Given the description of an element on the screen output the (x, y) to click on. 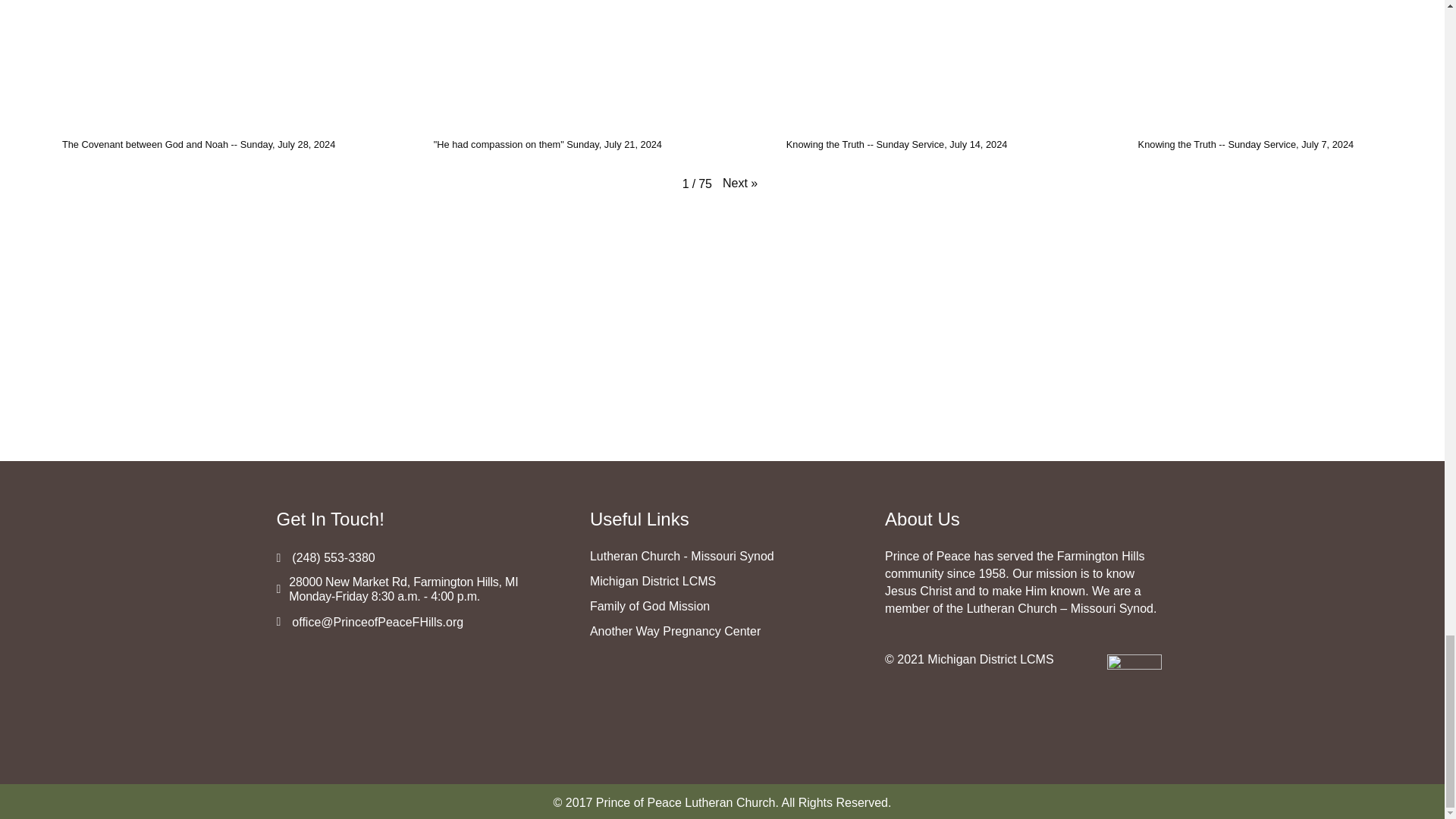
Family of God Mission (649, 605)
Michigan District LCMS (652, 581)
Another Way Pregnancy Center (674, 631)
Lutheran Church - Missouri Synod (681, 555)
